Given the description of an element on the screen output the (x, y) to click on. 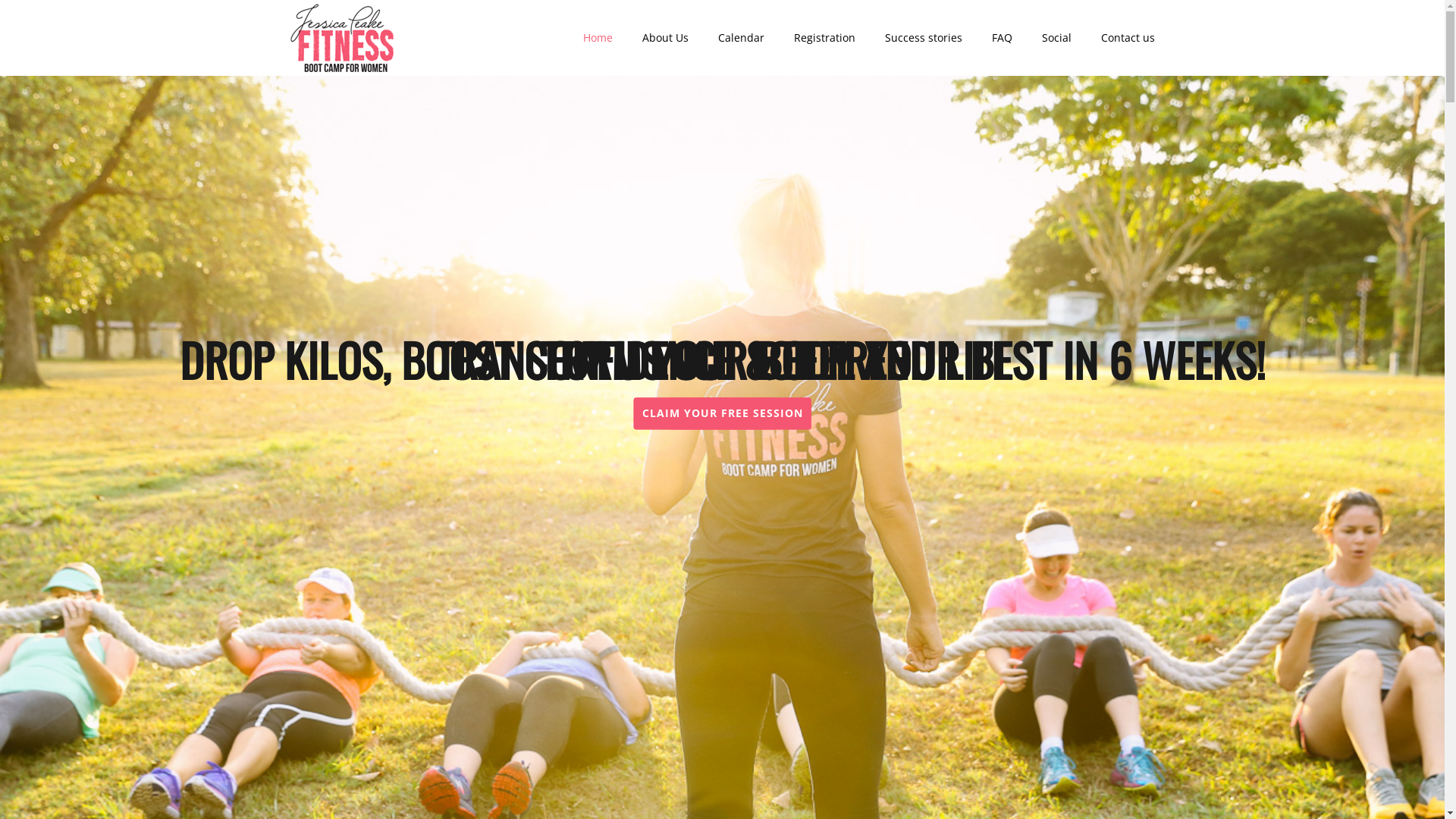
Calendar Element type: text (741, 37)
CLAIM YOUR FREE SESSION Element type: text (722, 413)
Registration Element type: text (824, 37)
Success stories Element type: text (923, 37)
Social Element type: text (1056, 37)
FAQ Element type: text (1001, 37)
Contact us Element type: text (1127, 37)
Home Element type: text (597, 37)
FIND OUT HOW Element type: text (722, 413)
About Us Element type: text (665, 37)
